Given the description of an element on the screen output the (x, y) to click on. 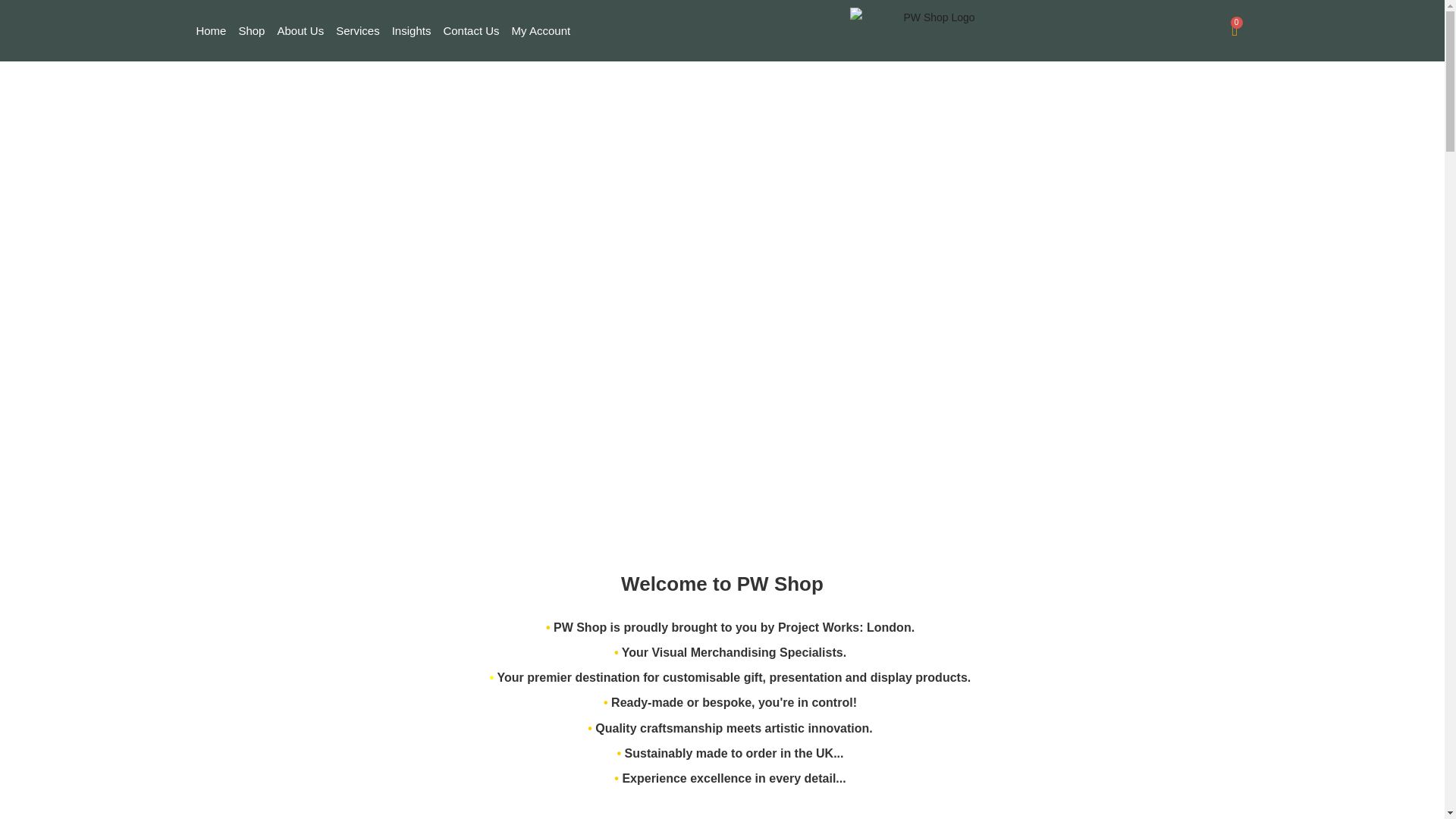
About Us (300, 30)
Home (210, 30)
Shop (250, 30)
My Account (540, 30)
Services (357, 30)
Insights (411, 30)
Contact Us (470, 30)
